Given the description of an element on the screen output the (x, y) to click on. 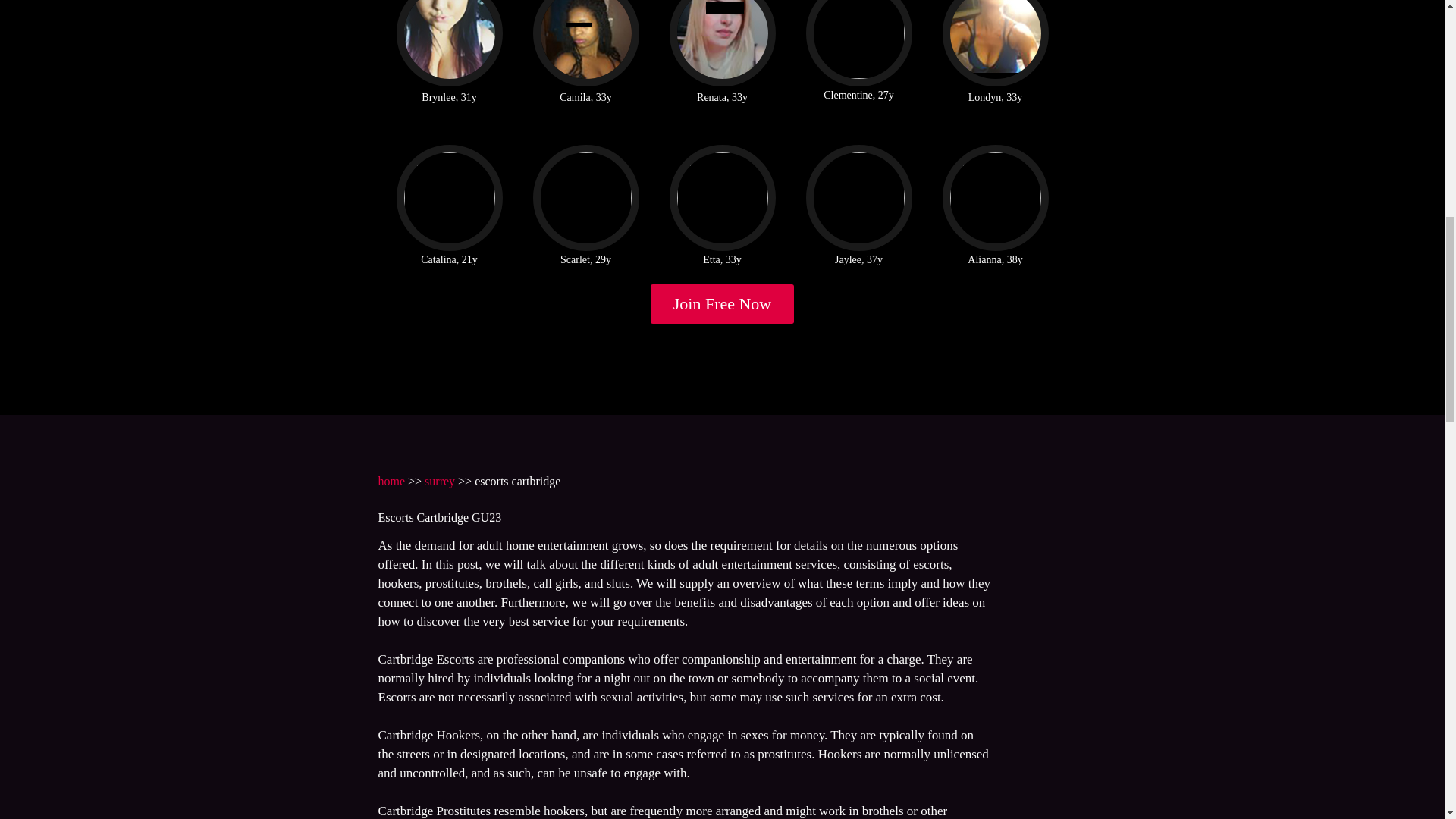
Join Free Now (722, 303)
Join (722, 303)
home (390, 481)
surrey (439, 481)
